Given the description of an element on the screen output the (x, y) to click on. 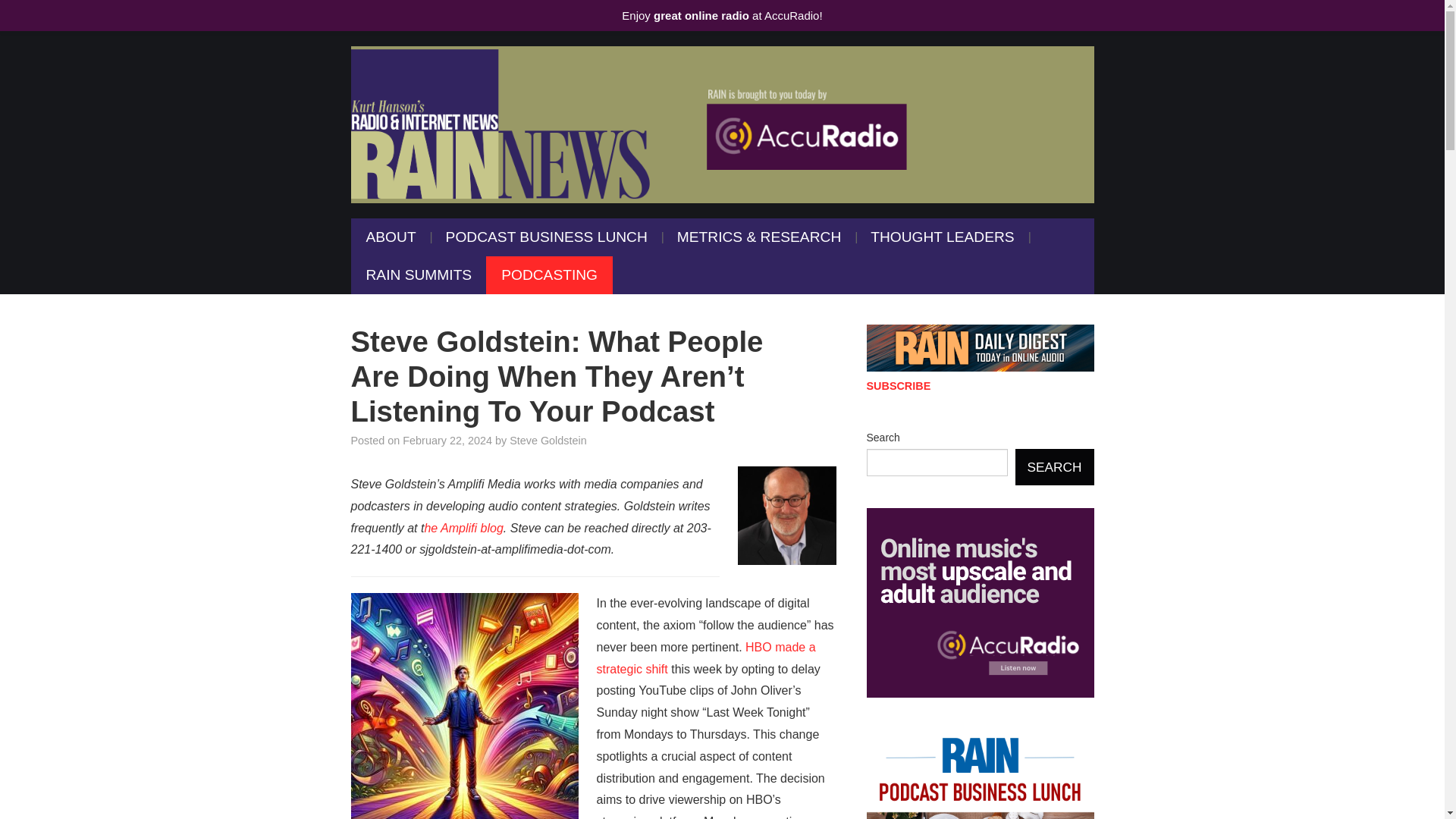
HBO made a strategic shift (705, 657)
PODCASTING (549, 275)
RAIN SUMMITS (418, 275)
1:27 pm (447, 440)
ABOUT (390, 237)
THOUGHT LEADERS (942, 237)
SEARCH (1054, 466)
SUBSCRIBE (898, 386)
February 22, 2024 (447, 440)
PODCAST BUSINESS LUNCH (546, 237)
he Amplifi blog (462, 527)
Steve Goldstein (547, 440)
View all posts by Steve Goldstein (547, 440)
RAIN News (721, 123)
